Given the description of an element on the screen output the (x, y) to click on. 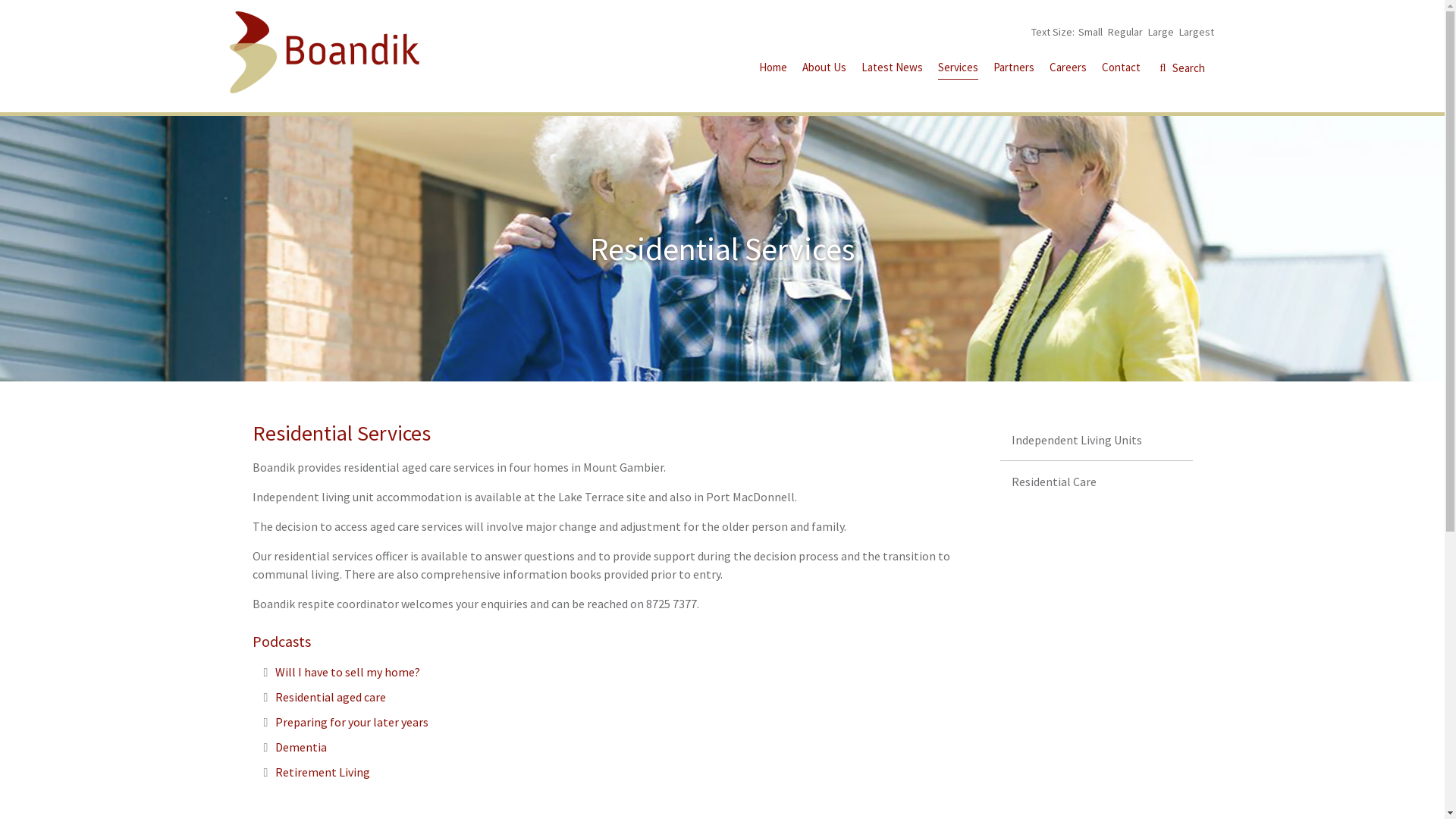
Large Element type: text (1160, 31)
Preparing for your later years Element type: text (351, 721)
Small Element type: text (1090, 31)
Careers Element type: text (1067, 68)
Latest News Element type: text (891, 68)
Residential Care Element type: text (1096, 481)
Regular Element type: text (1124, 31)
Independent Living Units Element type: text (1096, 439)
Residential aged care Element type: text (330, 696)
Partners Element type: text (1013, 68)
Services Element type: text (957, 69)
About Us Element type: text (824, 68)
Boandik Element type: hover (323, 52)
Largest Element type: text (1195, 31)
Dementia Element type: text (300, 746)
Retirement Living Element type: text (322, 771)
Will I have to sell my home? Element type: text (347, 671)
Contact Element type: text (1120, 68)
Home Element type: text (772, 68)
